Given the description of an element on the screen output the (x, y) to click on. 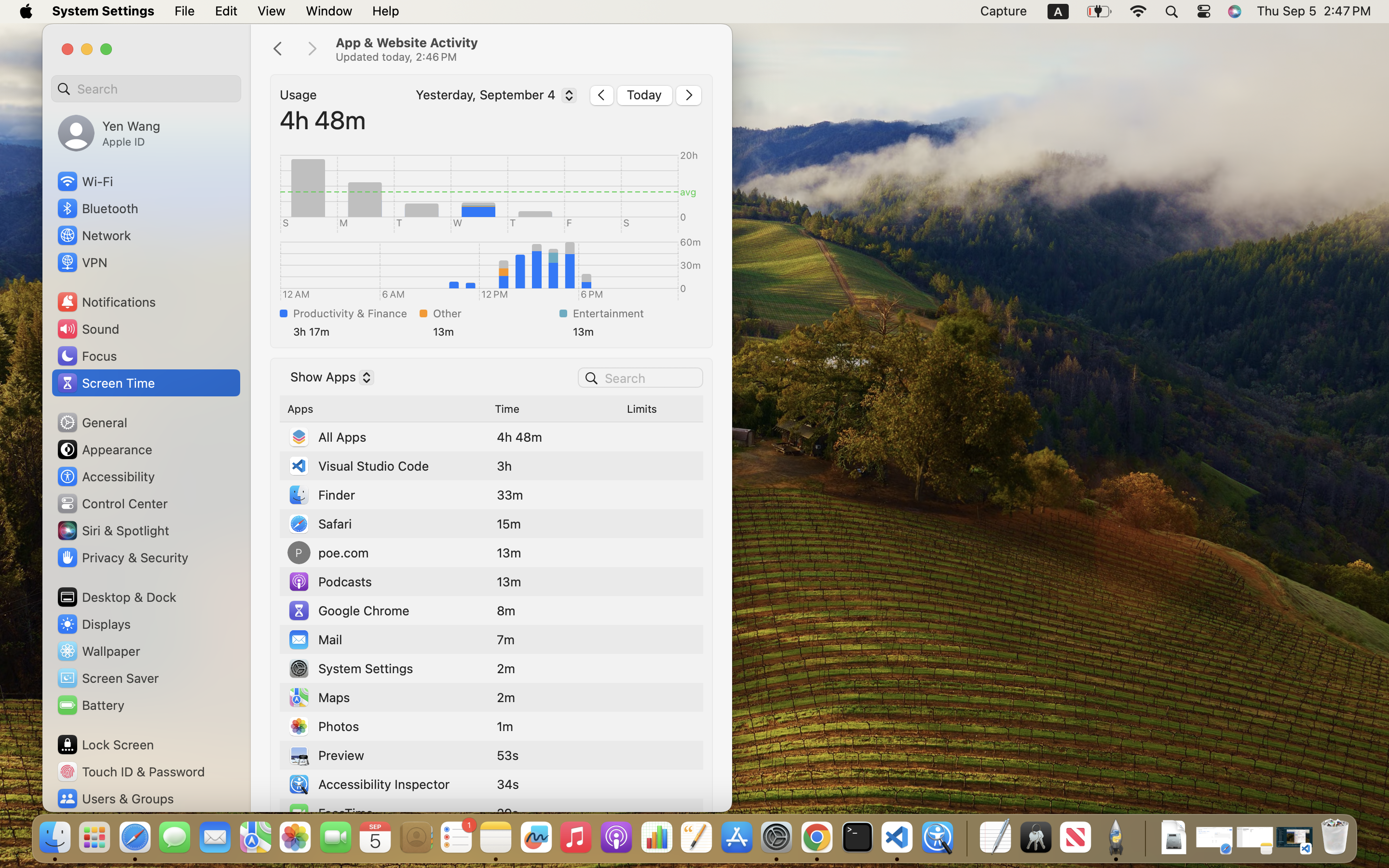
3h 17m Element type: AXStaticText (354, 331)
0.4285714328289032 Element type: AXDockItem (965, 837)
All Apps Element type: AXStaticText (326, 436)
Photos Element type: AXStaticText (322, 725)
Finder Element type: AXStaticText (320, 494)
